Given the description of an element on the screen output the (x, y) to click on. 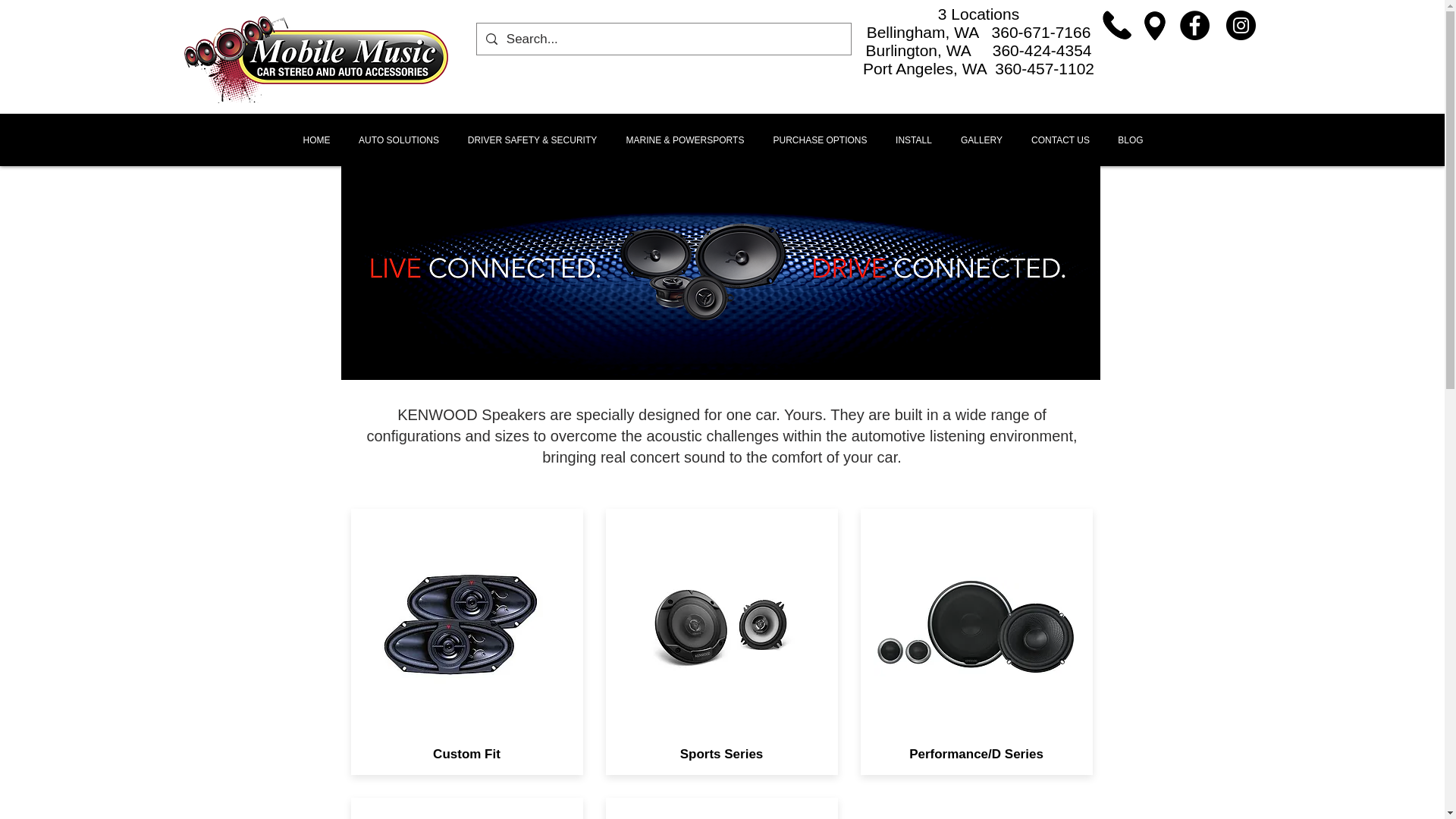
AUTO SOLUTIONS (397, 140)
Kenwood-KFC-415C-4x10-160-Watts-2-Way-Car-Speakers.jpg (465, 626)
CONTACT US (1060, 140)
GALLERY (981, 140)
PURCHASE OPTIONS (819, 140)
